Given the description of an element on the screen output the (x, y) to click on. 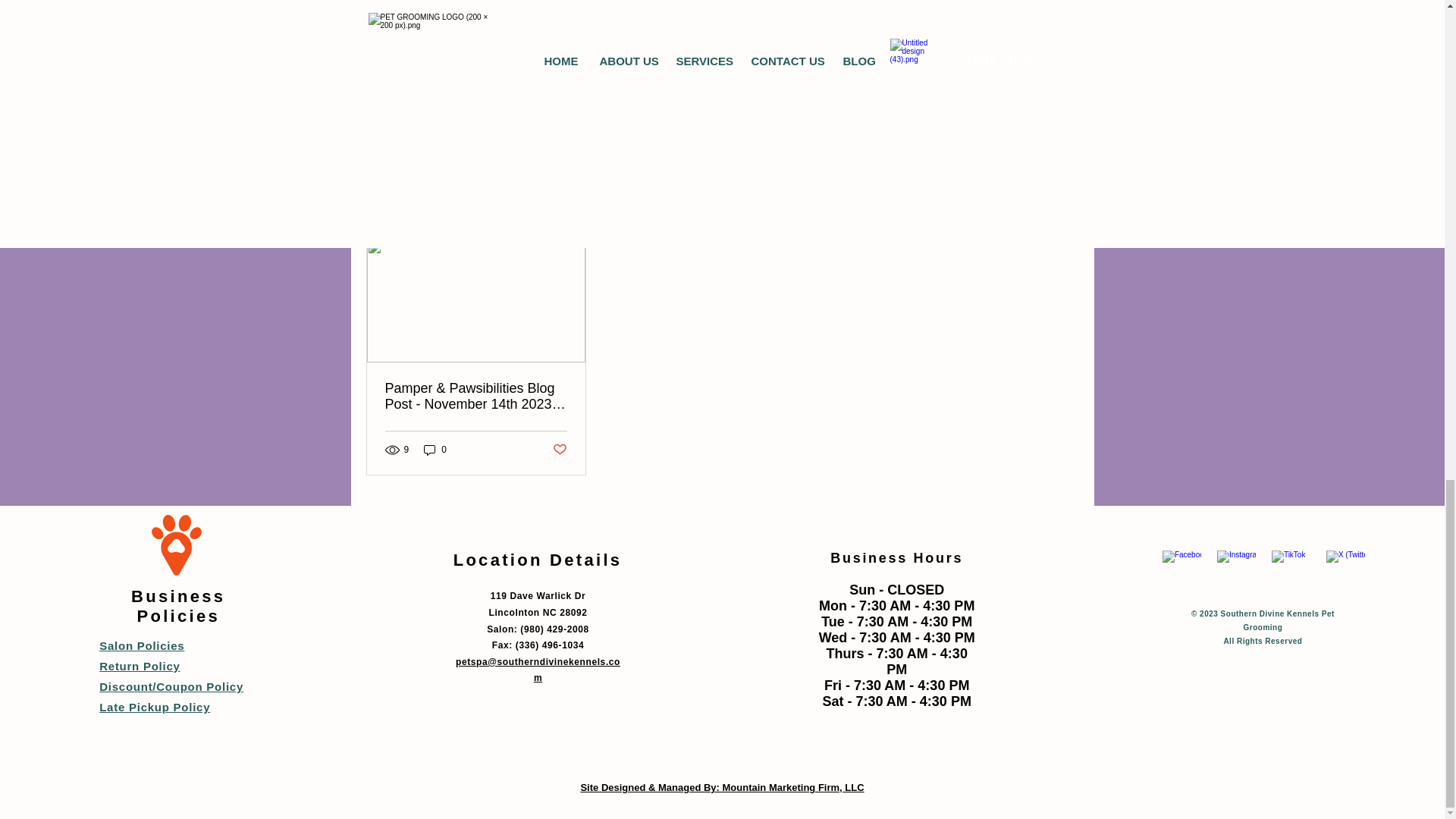
Return Policy (139, 666)
Post not marked as liked (995, 130)
Post not marked as liked (558, 449)
0 (435, 450)
Salon Policies (141, 645)
See All (1061, 212)
Pet Fun Facts (969, 84)
Fun Facts About Pets (501, 26)
Late Pickup Policy (154, 707)
